Given the description of an element on the screen output the (x, y) to click on. 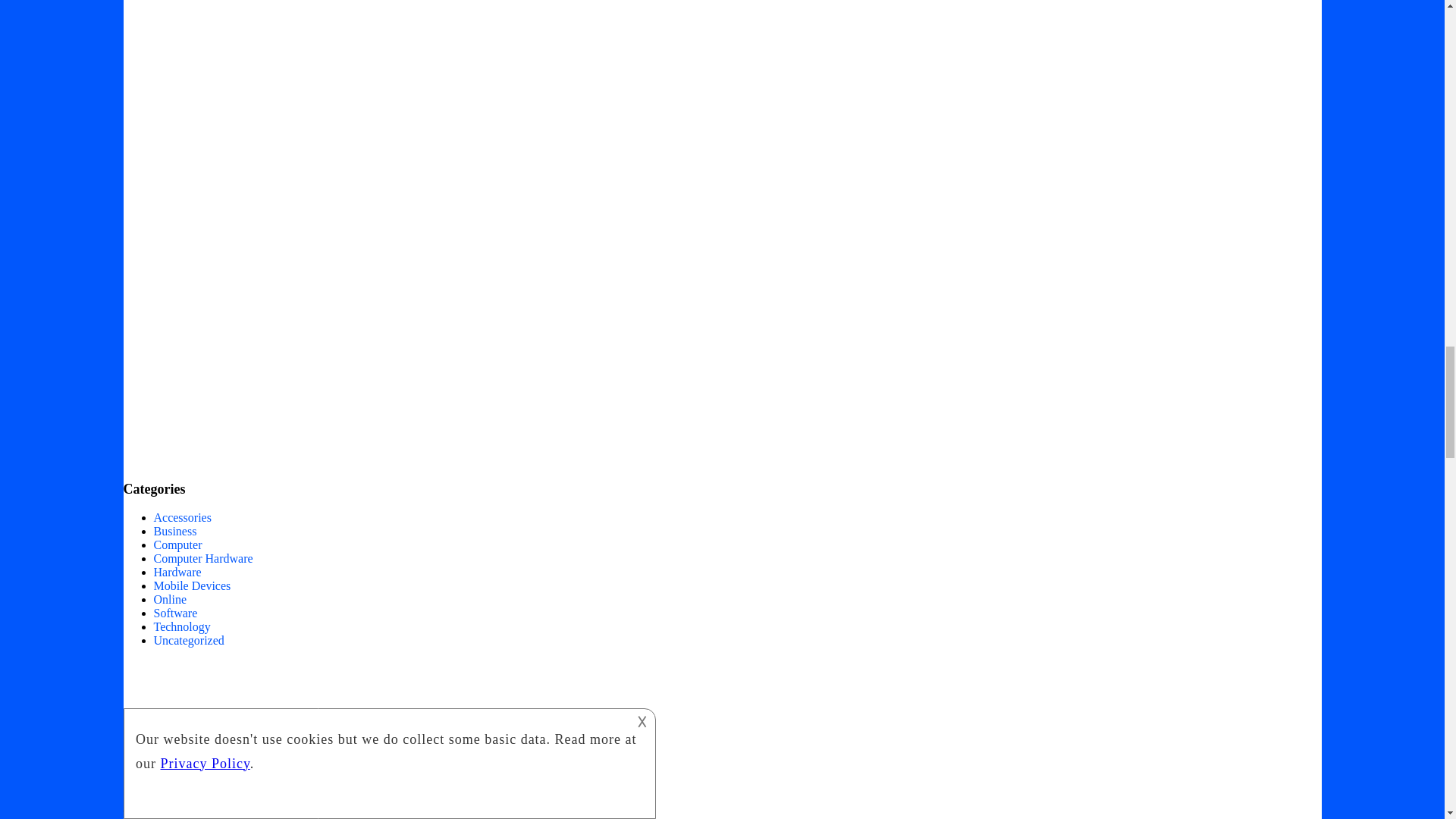
Computer Hardware (201, 558)
Business (174, 530)
Hardware (176, 571)
Accessories (181, 517)
Computer (177, 544)
Mobile Devices (191, 585)
